Given the description of an element on the screen output the (x, y) to click on. 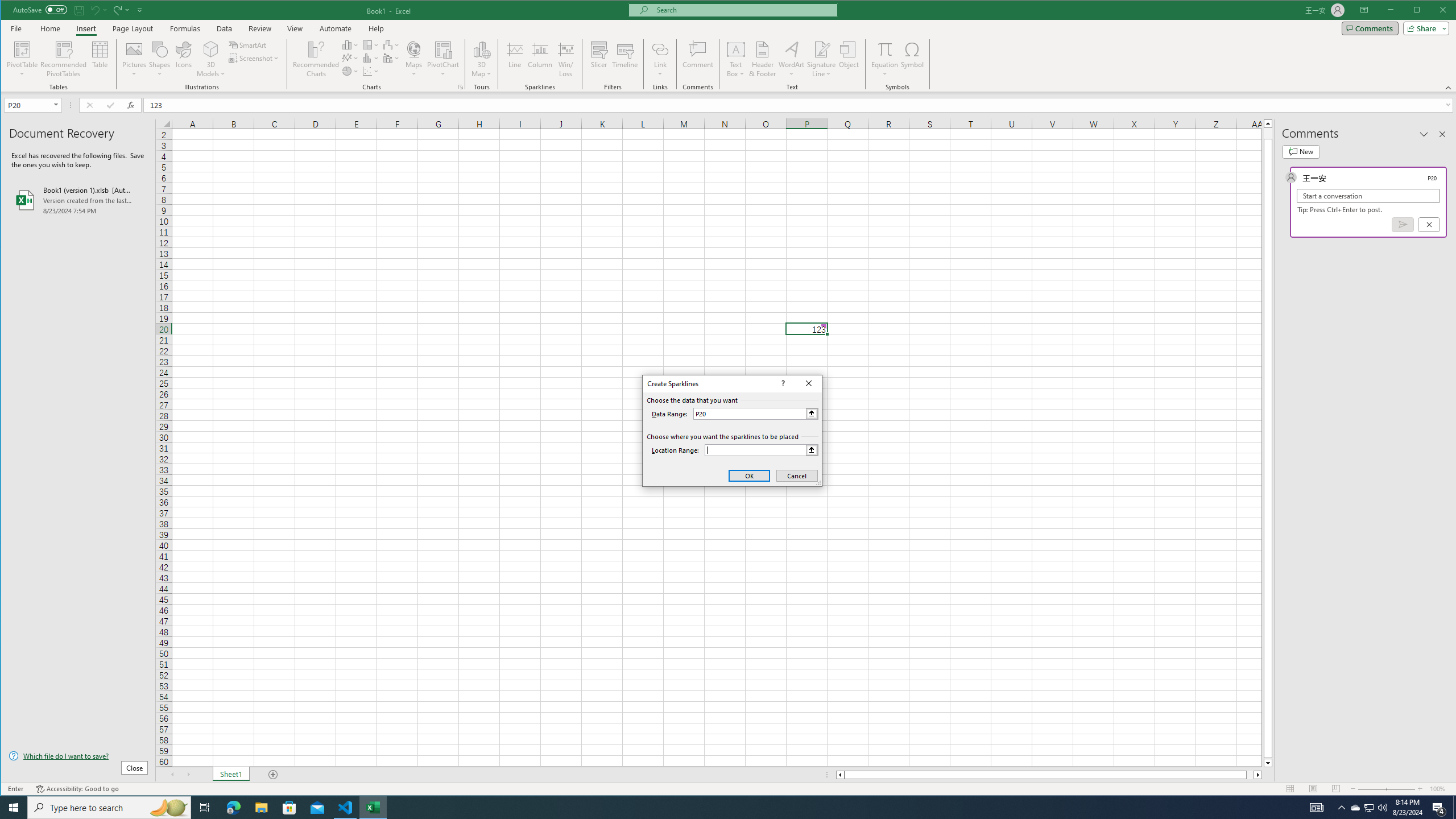
Win/Loss (565, 59)
Microsoft Edge (233, 807)
3D Map (481, 48)
Slicer... (598, 59)
SmartArt... (248, 44)
Quick Access Toolbar (79, 9)
Icons (183, 59)
Close pane (1441, 133)
Text Box (735, 59)
Which file do I want to save? (78, 755)
Scroll Right (188, 774)
Object... (848, 59)
Home (50, 28)
Automate (336, 28)
